Given the description of an element on the screen output the (x, y) to click on. 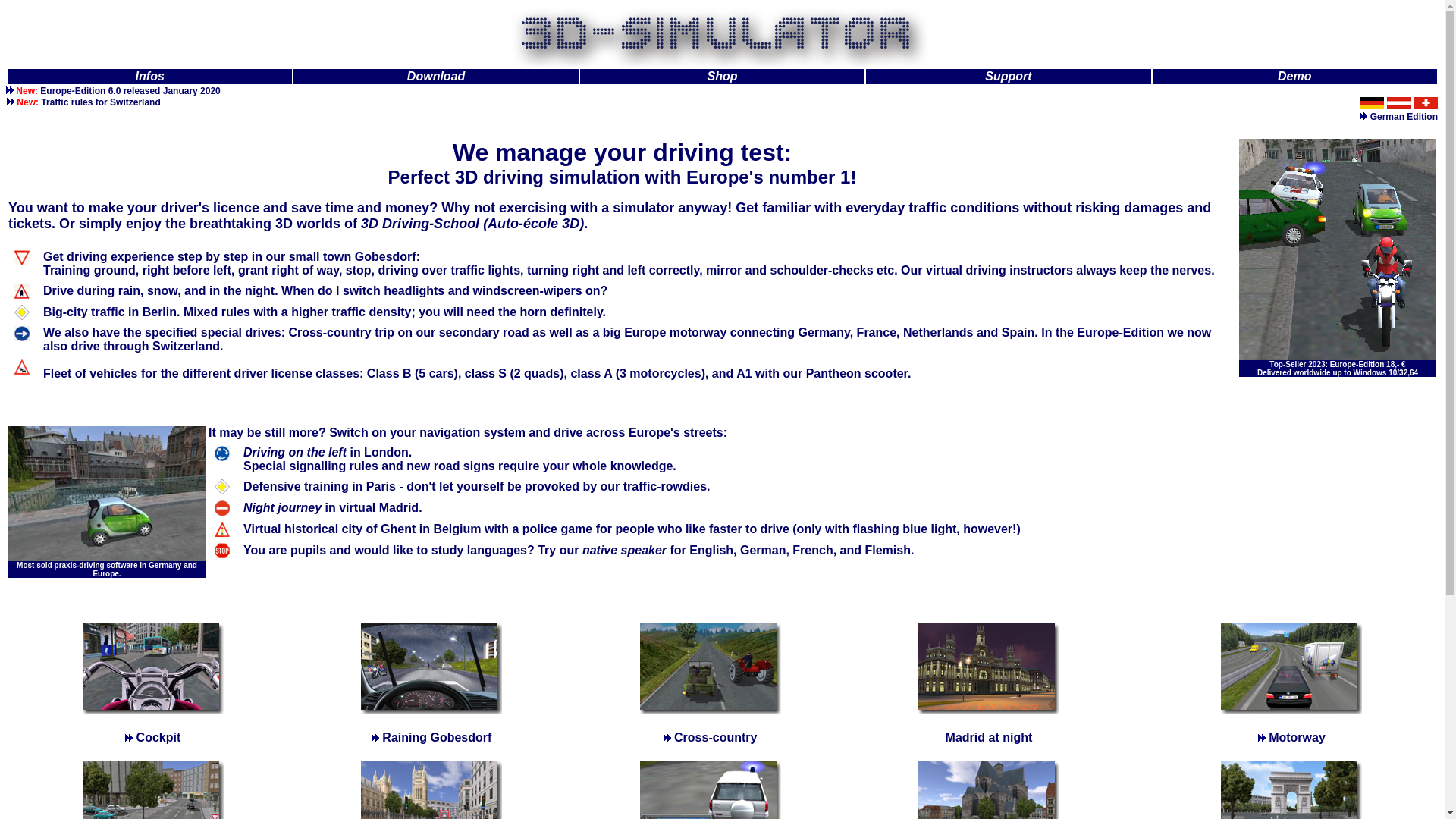
 Raining Gobesdorf Element type: text (431, 737)
 German Edition Element type: text (1398, 116)
Traffic rules for Switzerland Element type: text (100, 102)
Shop Element type: text (721, 75)
Support Element type: text (1008, 75)
 Cross-country Element type: text (710, 737)
  Element type: text (11, 102)
Europe-Edition 6.0 released January 2020 Element type: text (129, 90)
 Cockpit Element type: text (152, 737)
Infos Element type: text (149, 75)
Demo Element type: text (1294, 75)
New: Element type: text (27, 90)
  Element type: text (10, 90)
 Motorway Element type: text (1291, 737)
Download Element type: text (435, 75)
New: Element type: text (28, 102)
